Given the description of an element on the screen output the (x, y) to click on. 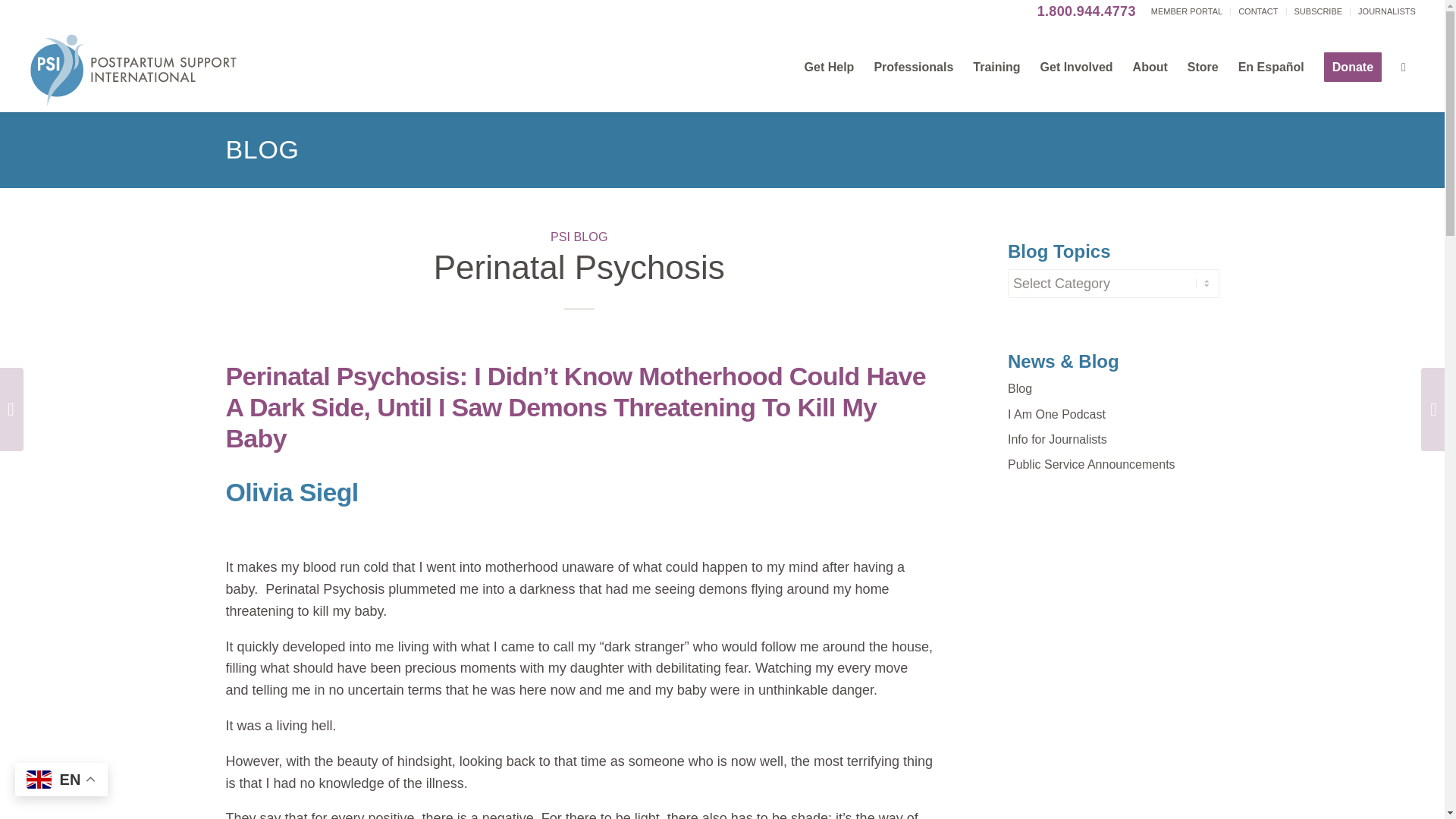
Permanent Link: Blog (262, 149)
Professionals (912, 67)
Get Involved (1076, 67)
JOURNALISTS (1386, 11)
MEMBER PORTAL (1187, 11)
SUBSCRIBE (1318, 11)
CONTACT (1258, 11)
